Given the description of an element on the screen output the (x, y) to click on. 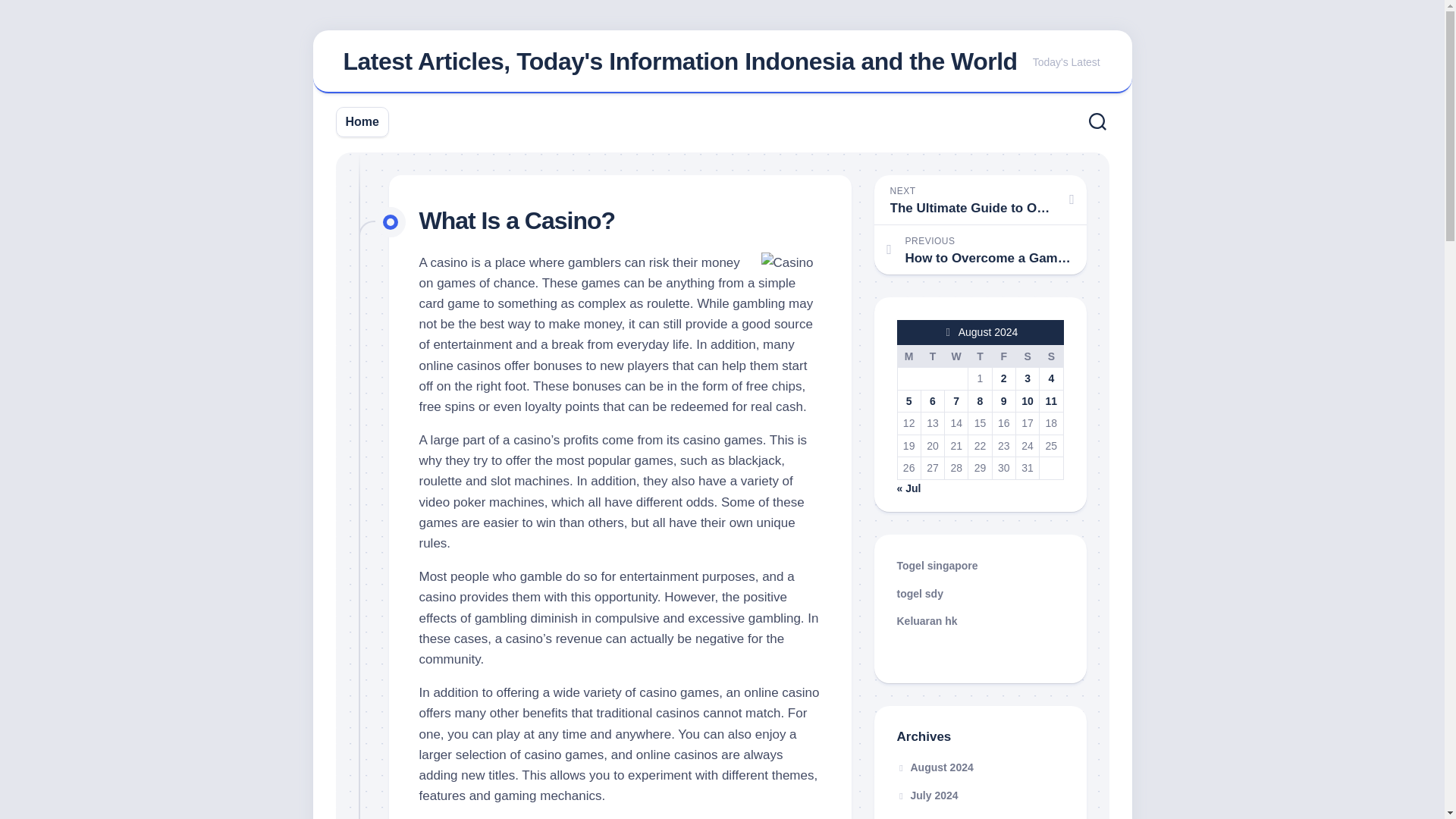
Togel singapore (936, 565)
Latest Articles, Today's Information Indonesia and the World (979, 249)
Saturday (679, 61)
Friday (1026, 355)
Sunday (1002, 355)
Home (1050, 355)
10 (362, 121)
August 2024 (1027, 399)
